Given the description of an element on the screen output the (x, y) to click on. 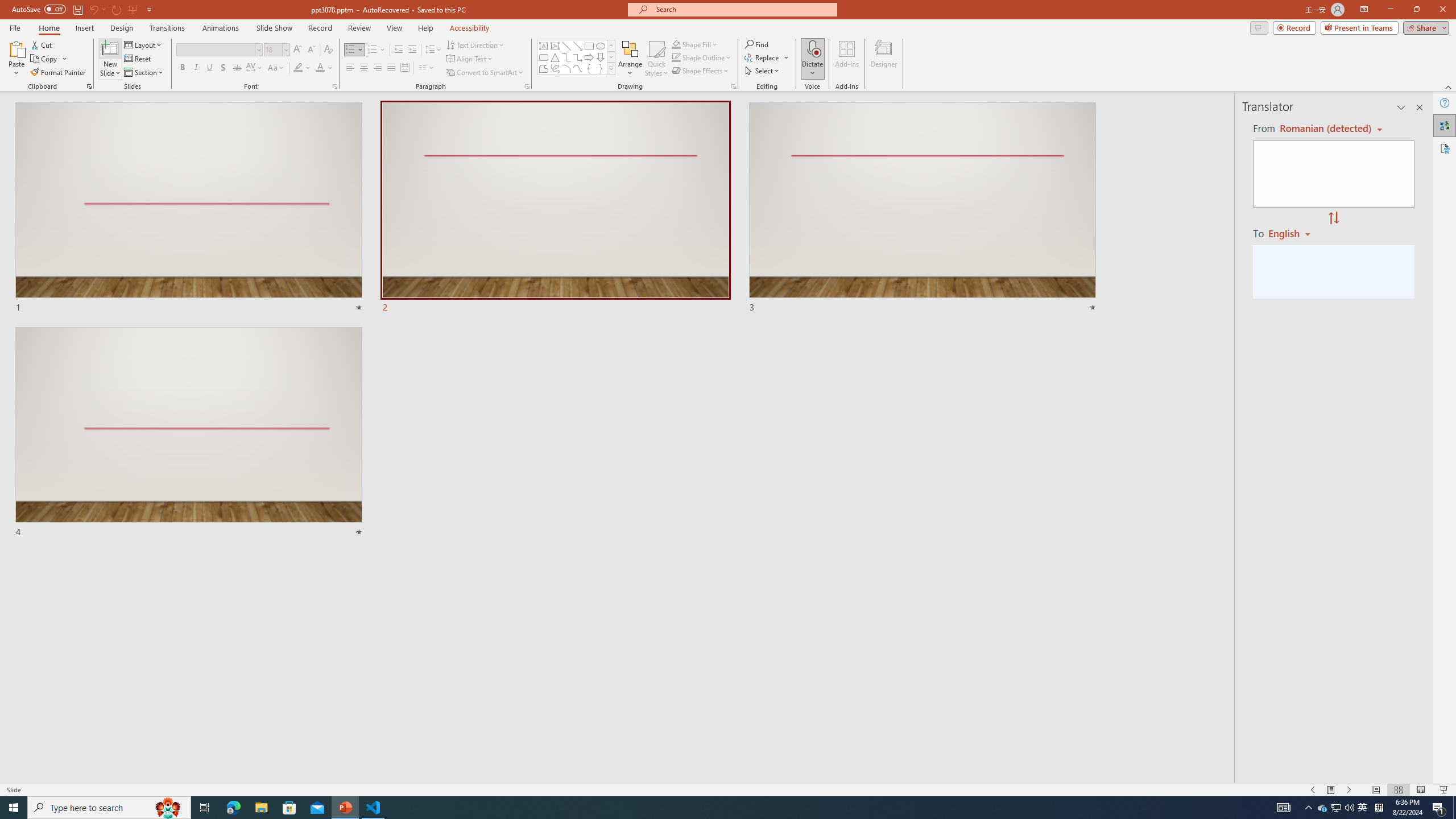
Text Highlight Color Yellow (297, 67)
Format Painter (58, 72)
Oval (600, 45)
Slide Show Next On (1349, 790)
Swap "from" and "to" languages. (1333, 218)
Underline (209, 67)
Czech (detected) (1323, 128)
